Given the description of an element on the screen output the (x, y) to click on. 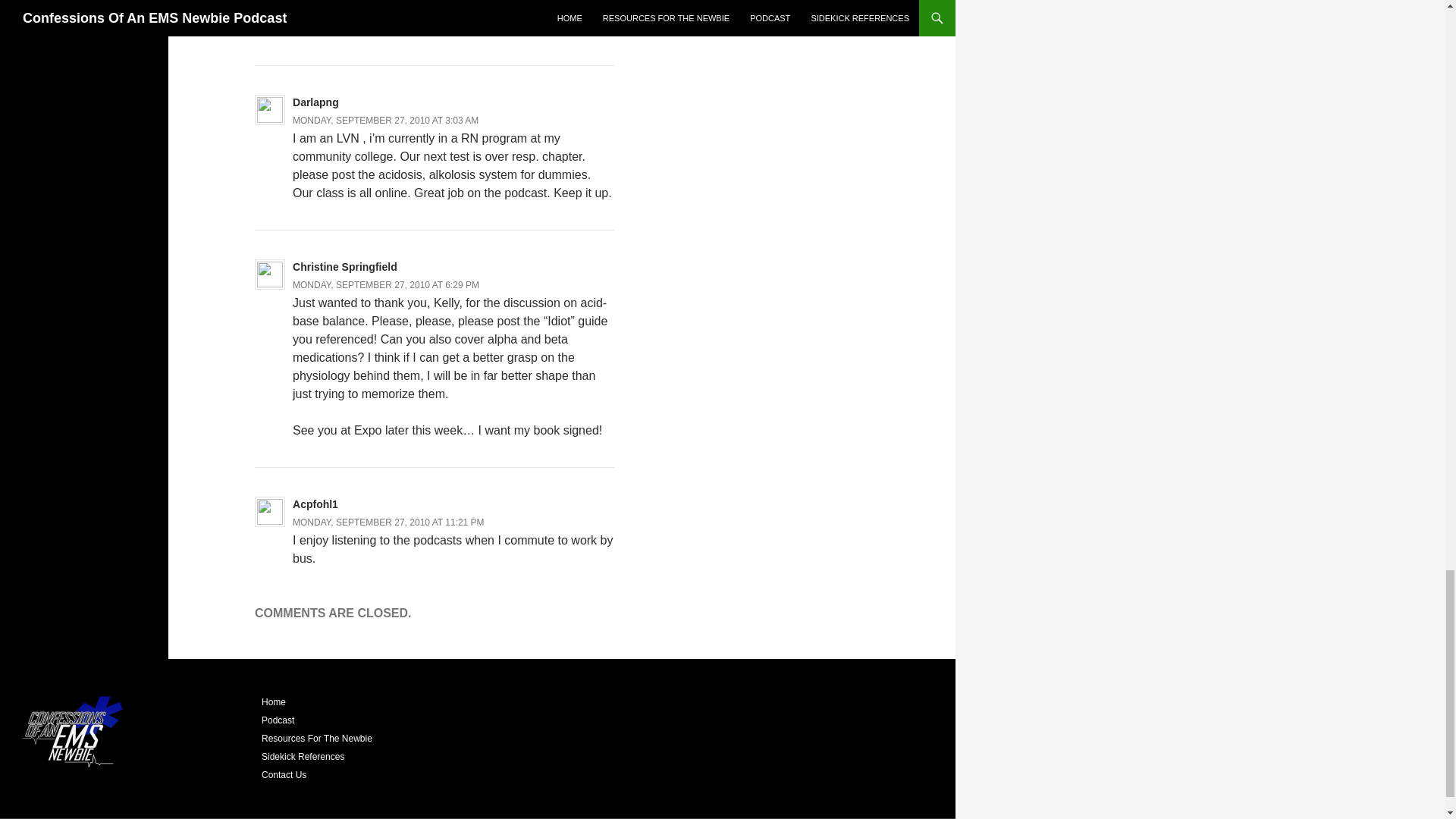
MONDAY, SEPTEMBER 27, 2010 AT 3:03 AM (385, 120)
MONDAY, SEPTEMBER 27, 2010 AT 6:29 PM (385, 285)
MONDAY, SEPTEMBER 27, 2010 AT 11:21 PM (388, 521)
